Given the description of an element on the screen output the (x, y) to click on. 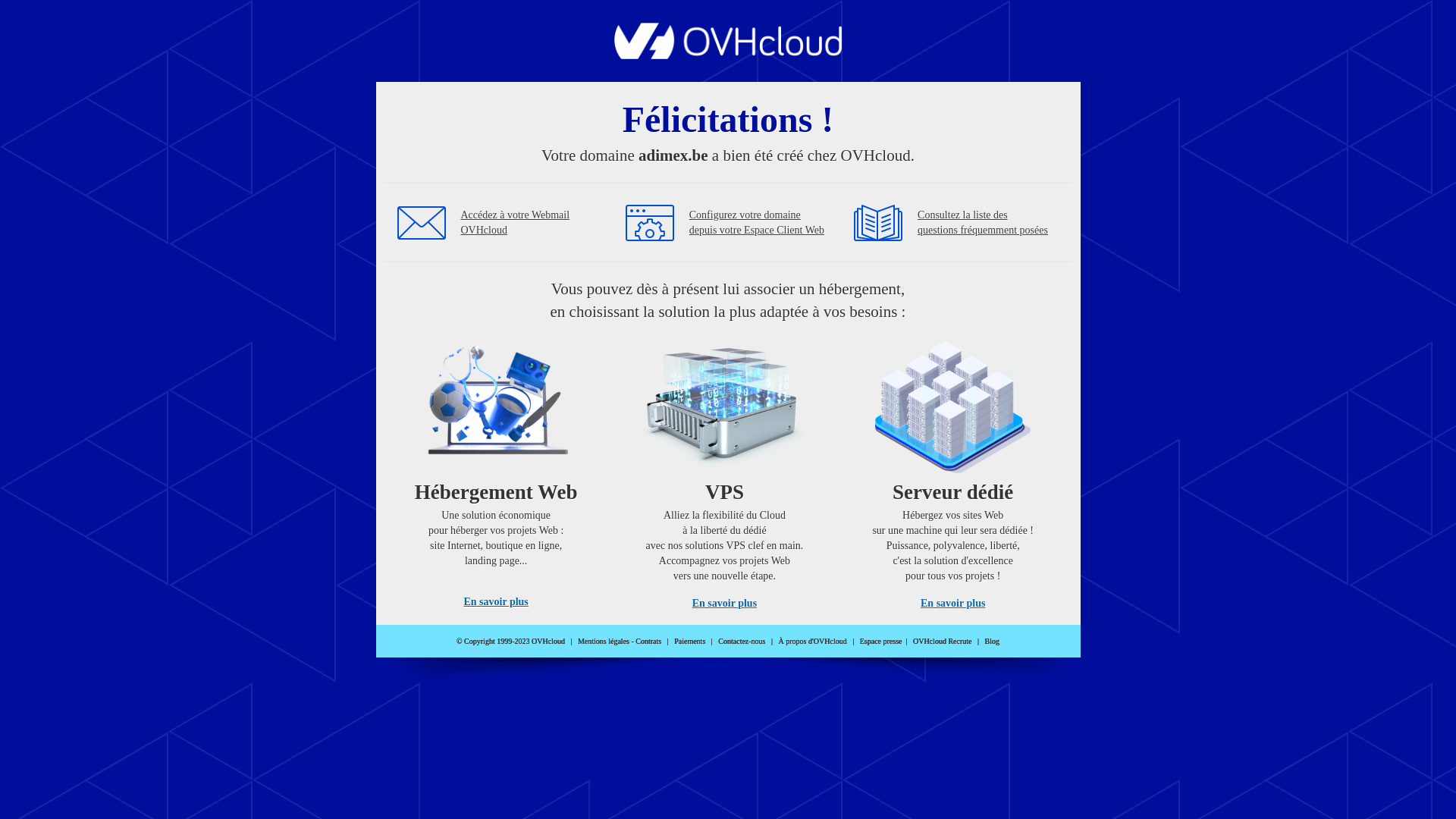
En savoir plus Element type: text (724, 602)
OVHcloud Element type: hover (727, 54)
Paiements Element type: text (689, 641)
En savoir plus Element type: text (495, 601)
Contactez-nous Element type: text (741, 641)
En savoir plus Element type: text (952, 602)
VPS Element type: hover (724, 469)
Espace presse Element type: text (880, 641)
OVHcloud Recrute Element type: text (942, 641)
Configurez votre domaine
depuis votre Espace Client Web Element type: text (756, 222)
Blog Element type: text (992, 641)
